Given the description of an element on the screen output the (x, y) to click on. 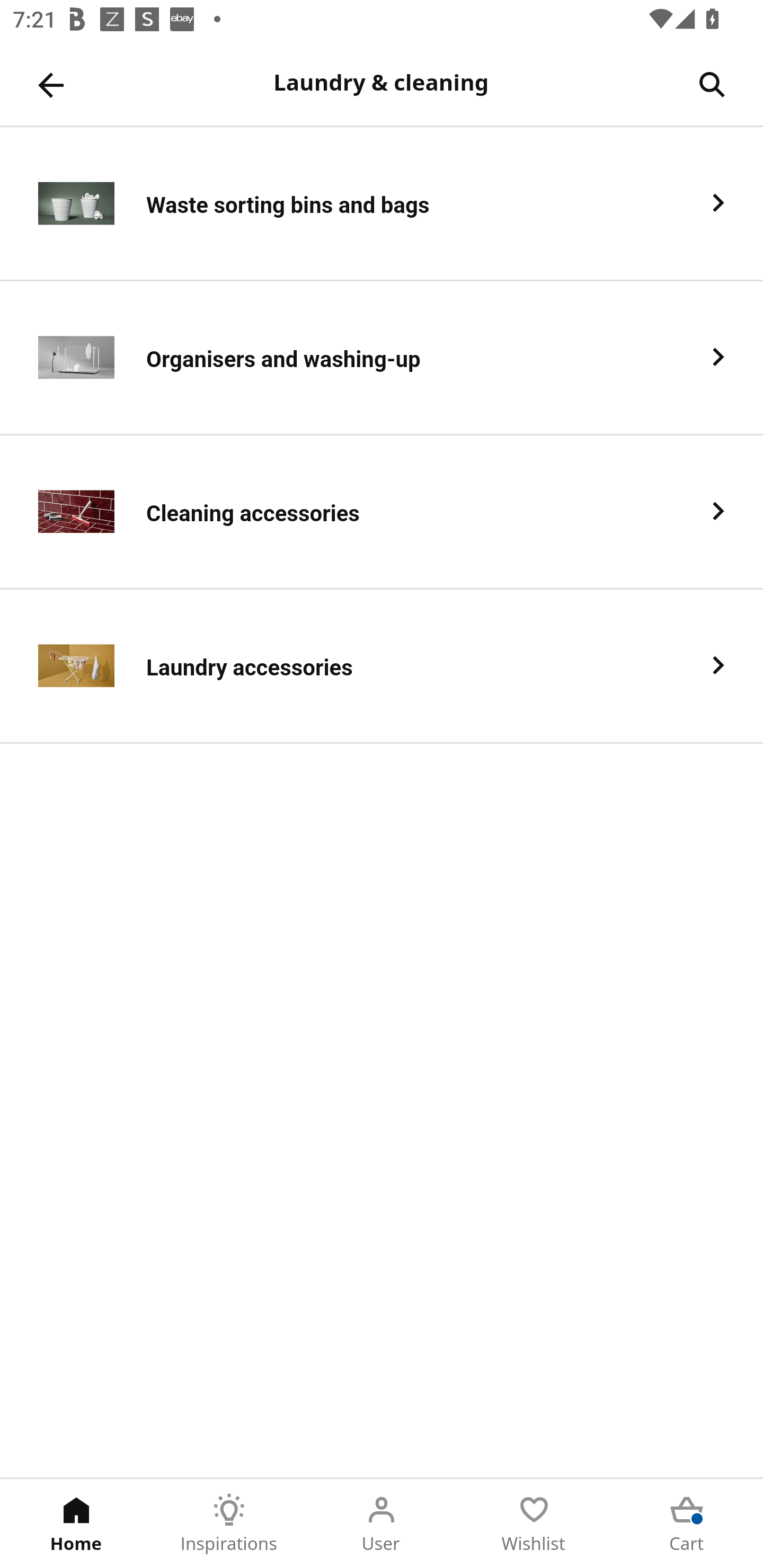
Waste sorting bins and bags (381, 203)
Organisers and washing-up (381, 357)
Cleaning accessories (381, 512)
Laundry accessories (381, 666)
Home
Tab 1 of 5 (76, 1522)
Inspirations
Tab 2 of 5 (228, 1522)
User
Tab 3 of 5 (381, 1522)
Wishlist
Tab 4 of 5 (533, 1522)
Cart
Tab 5 of 5 (686, 1522)
